Given the description of an element on the screen output the (x, y) to click on. 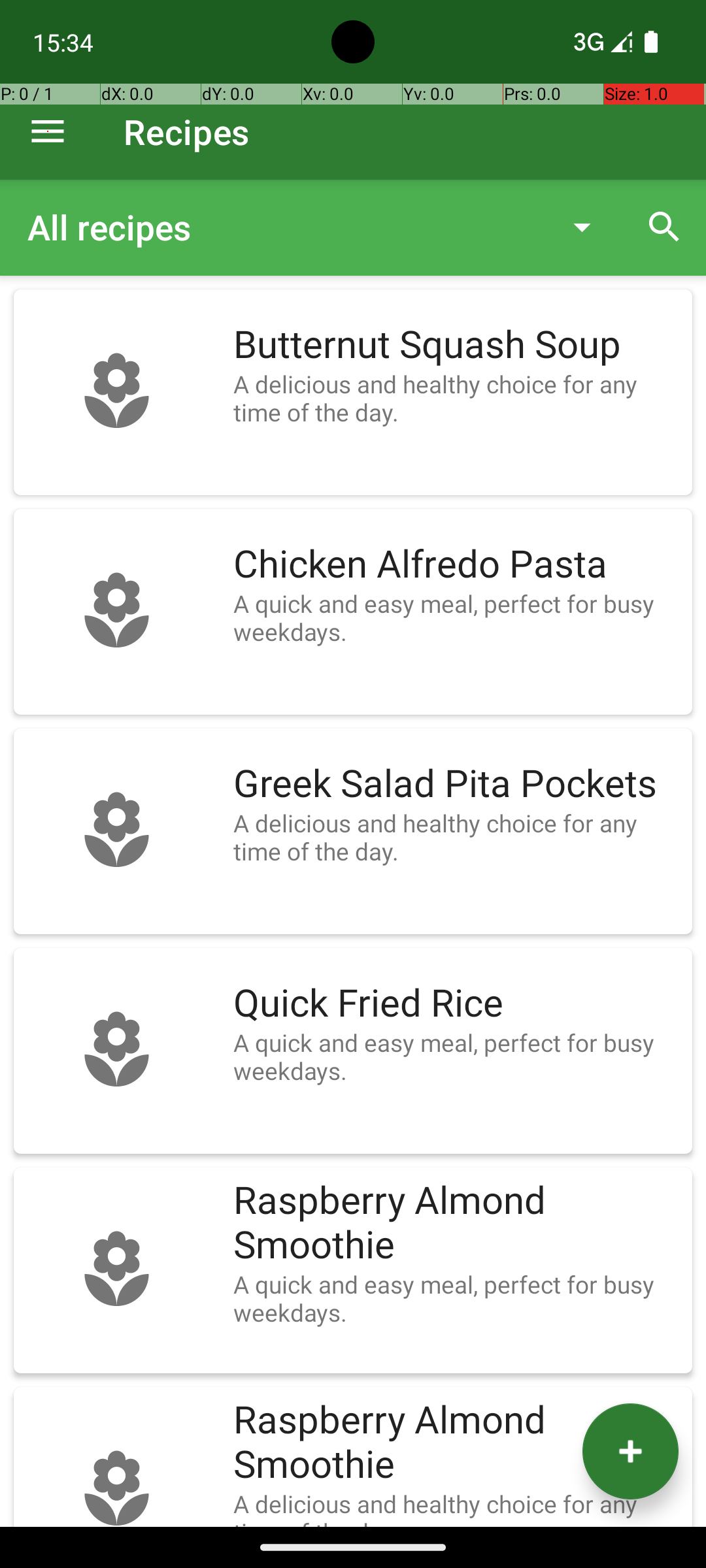
Greek Salad Pita Pockets Element type: android.widget.TextView (455, 783)
Quick Fried Rice Element type: android.widget.TextView (455, 1003)
Raspberry Almond Smoothie Element type: android.widget.TextView (455, 1222)
